Given the description of an element on the screen output the (x, y) to click on. 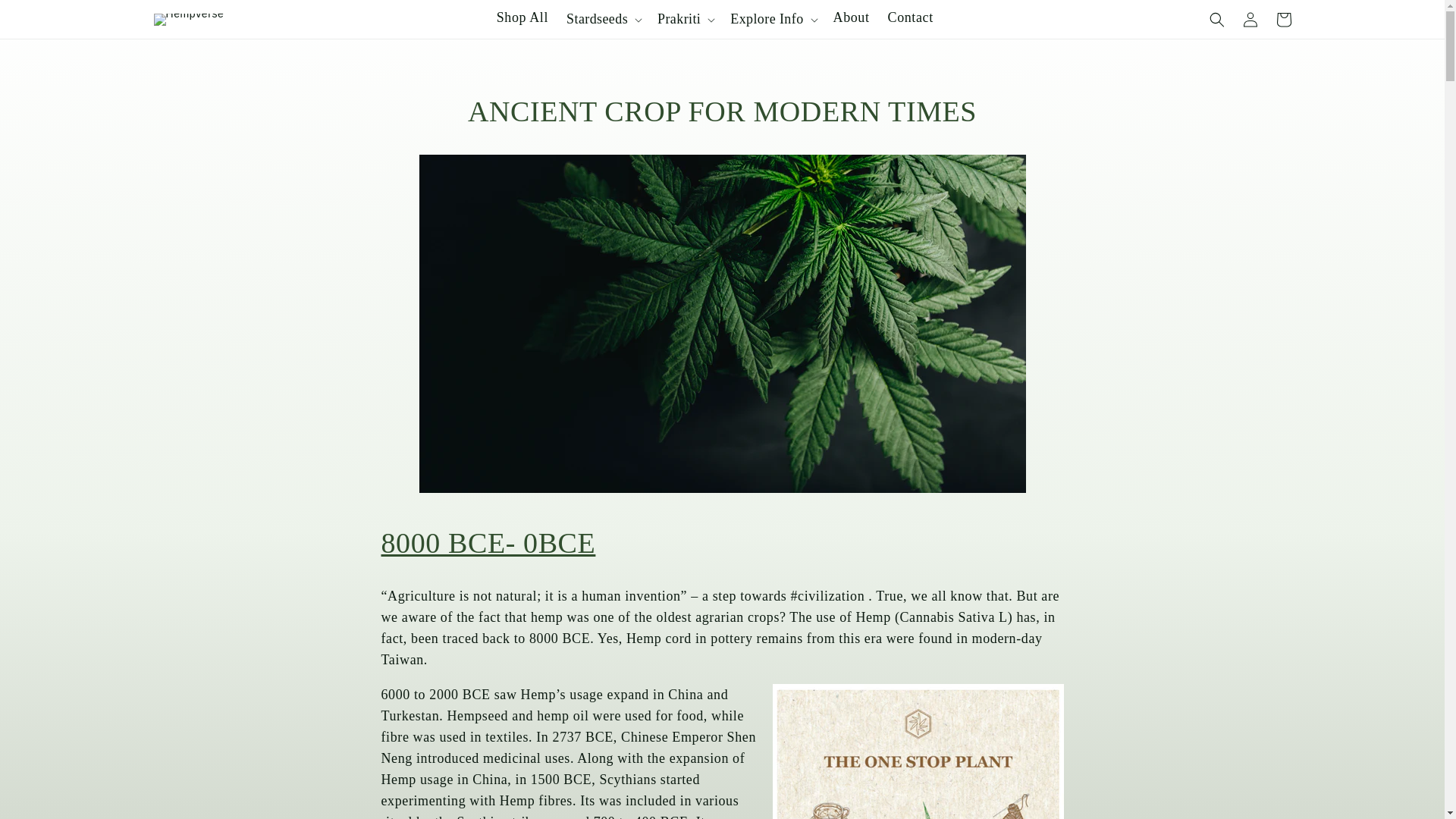
Prakriti (679, 19)
Stardseeds (596, 19)
Skip to content (45, 16)
Shop All (522, 18)
Explore Info (766, 19)
